Given the description of an element on the screen output the (x, y) to click on. 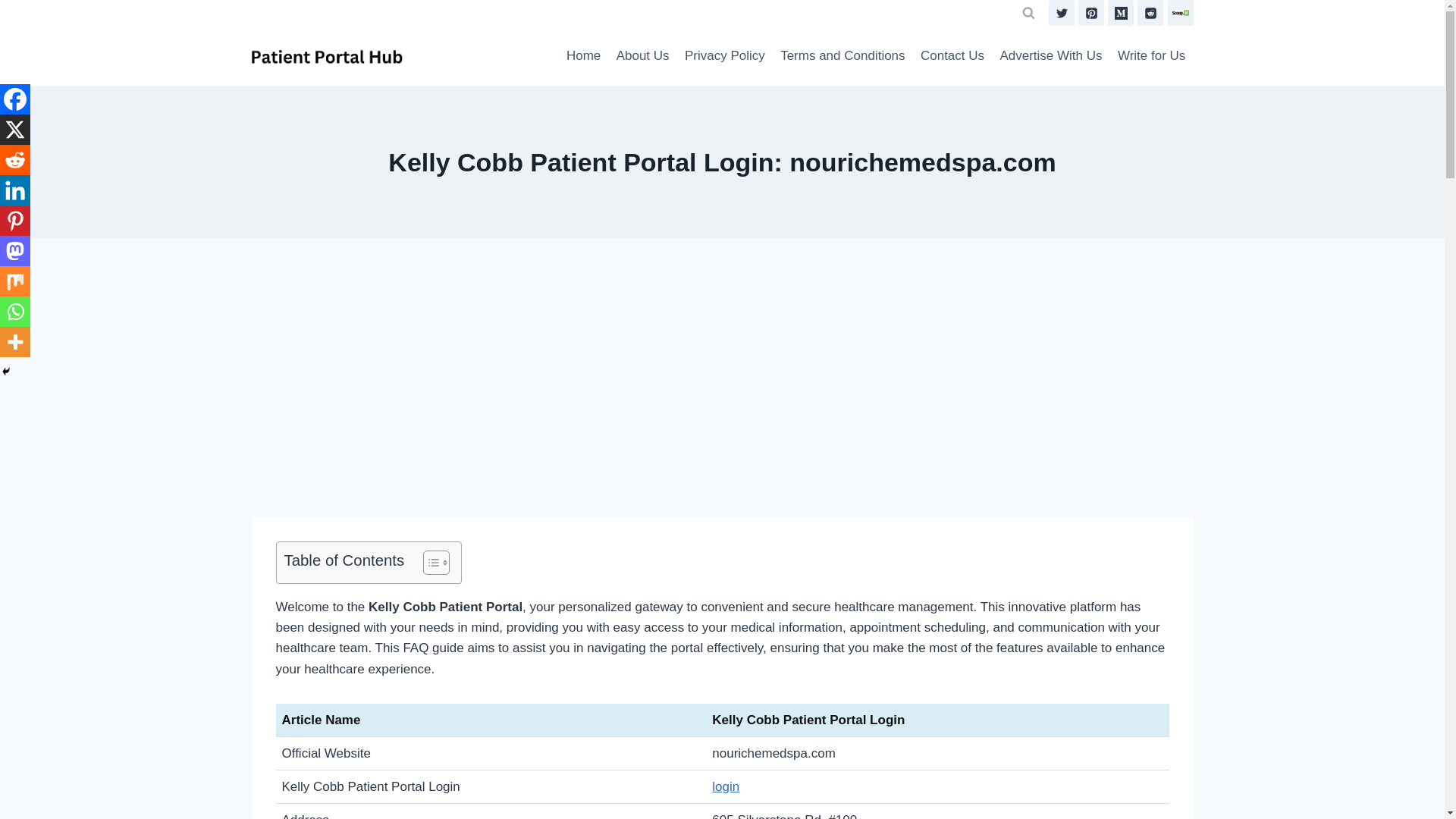
Privacy Policy (725, 55)
Advertise With Us (1050, 55)
Contact Us (951, 55)
login (725, 786)
Home (583, 55)
Terms and Conditions (842, 55)
Write for Us (1151, 55)
About Us (642, 55)
